Given the description of an element on the screen output the (x, y) to click on. 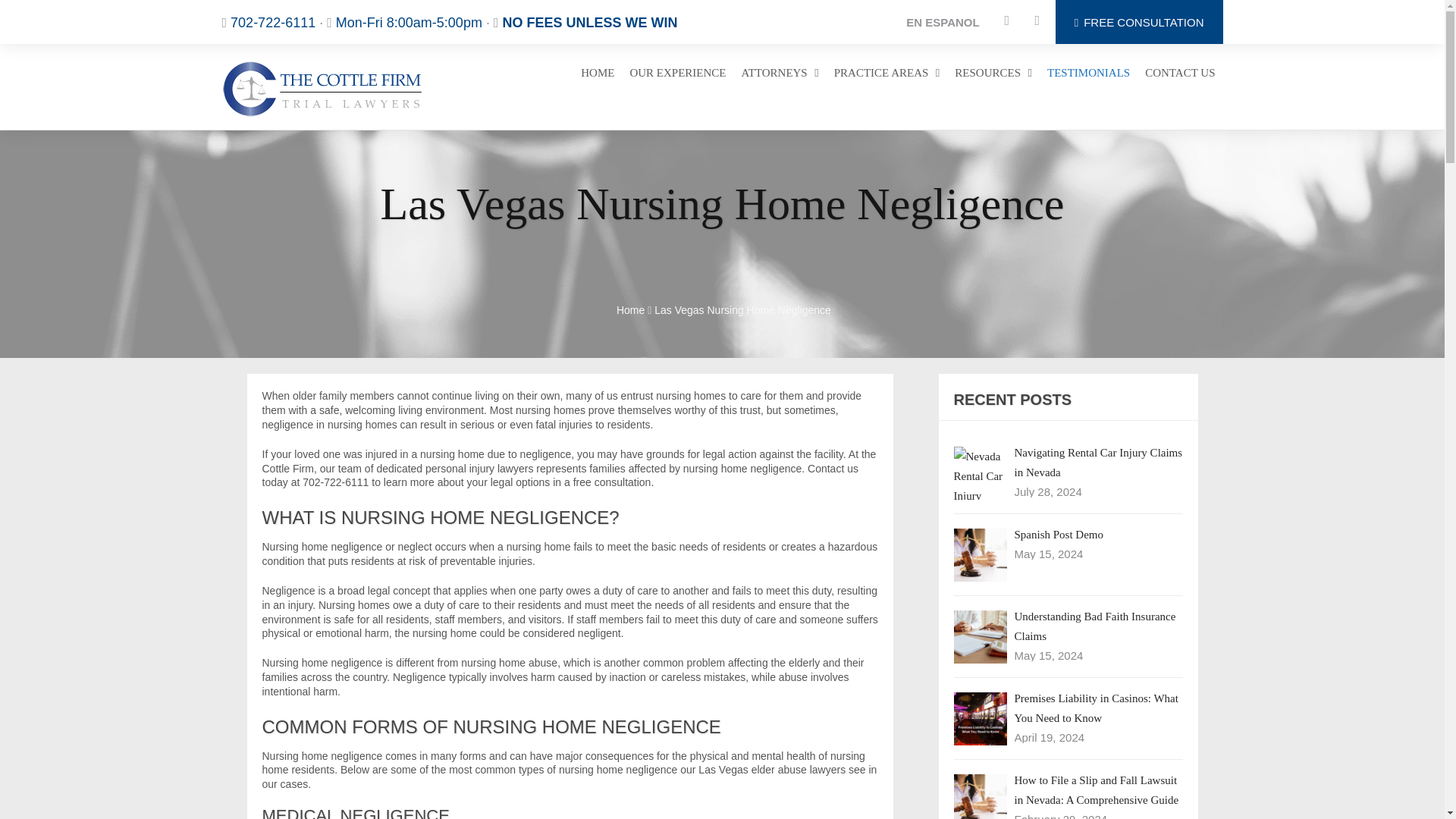
702-722-6111 (272, 22)
Premises Liability in Casinos: What You Need to Know (980, 718)
NO FEES UNLESS WE WIN (589, 22)
PRACTICE AREAS (887, 74)
OUR EXPERIENCE (677, 74)
Understanding Bad Faith Insurance Claims (980, 636)
Spanish Post Demo (980, 554)
Email (1006, 21)
EN ESPANOL (941, 21)
Mon-Fri 8:00am-5:00pm (408, 22)
